Given the description of an element on the screen output the (x, y) to click on. 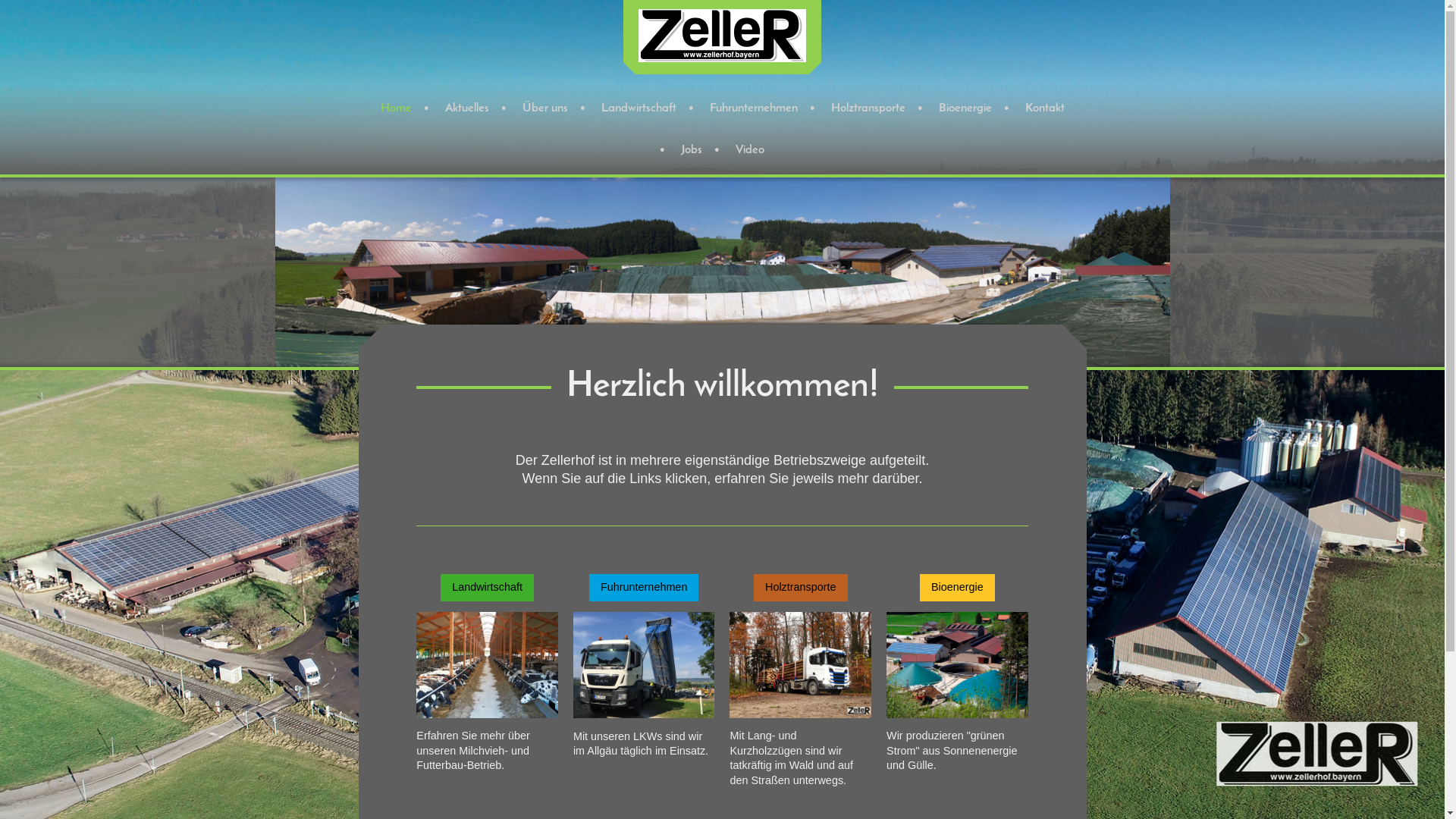
Fuhrunternehmen Element type: text (753, 108)
Jobs Element type: text (691, 150)
Landwirtschaft Element type: text (486, 587)
Holztransporte Element type: text (867, 108)
Video Element type: text (749, 150)
Kontakt Element type: text (1044, 108)
Aktuelles Element type: text (466, 108)
Bioenergie Element type: text (956, 587)
Holztransporte Element type: text (800, 587)
Home Element type: text (395, 108)
Bioenergie Element type: text (965, 108)
Landwirtschaft Element type: text (637, 108)
Fuhrunternehmen Element type: text (643, 587)
